Given the description of an element on the screen output the (x, y) to click on. 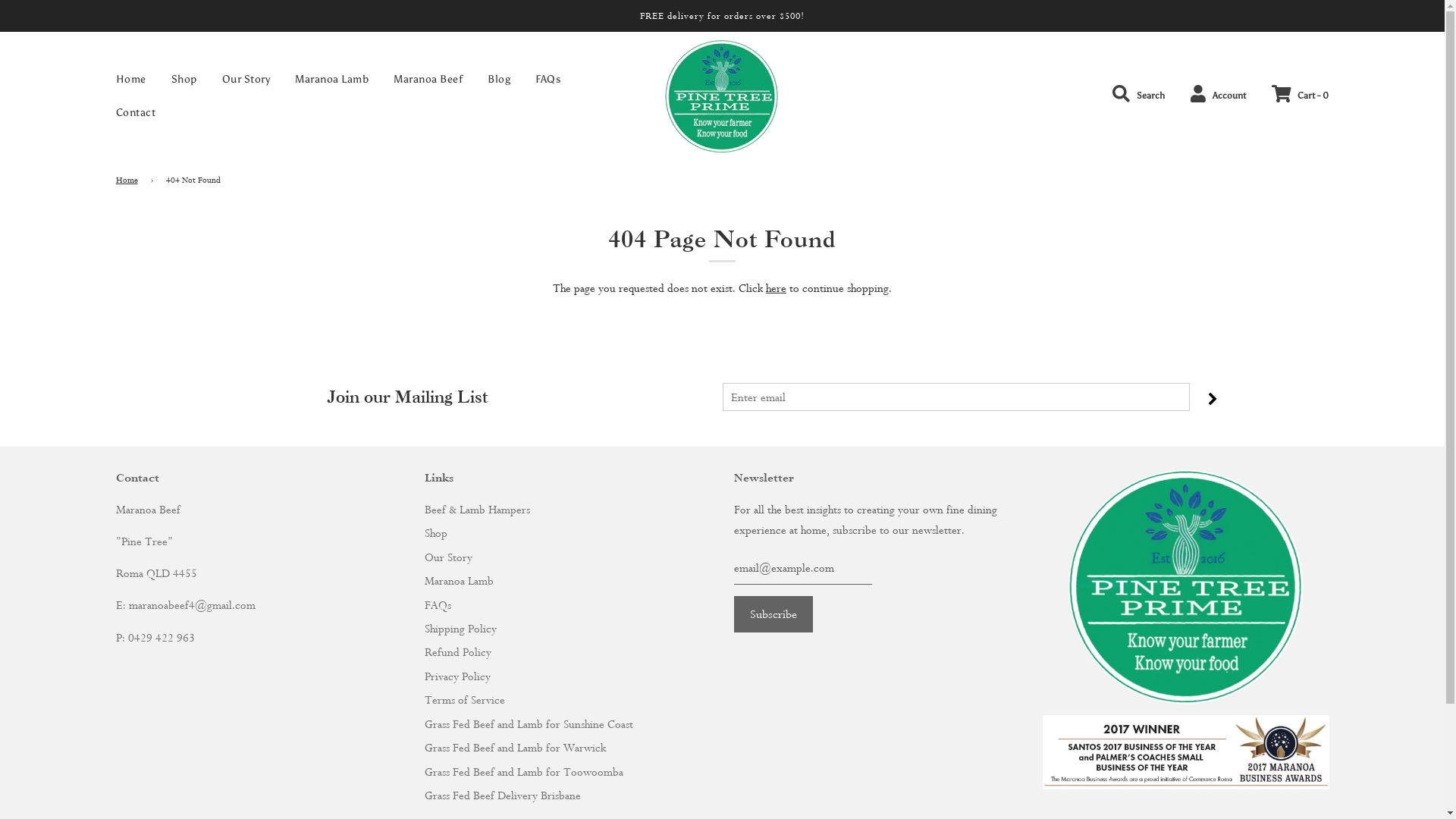
FAQs Element type: text (547, 79)
Blog Element type: text (498, 79)
Grass Fed Beef and Lamb for Warwick Element type: text (514, 747)
Our Story Element type: text (246, 79)
Cart - 0 Element type: text (1299, 94)
Maranoa Lamb Element type: text (458, 580)
Privacy Policy Element type: text (457, 675)
Terms of Service Element type: text (464, 699)
Home Element type: text (128, 180)
Search Element type: text (1138, 94)
Refund Policy Element type: text (457, 651)
here Element type: text (775, 287)
Shop Element type: text (435, 532)
Account Element type: text (1217, 94)
Maranoa Lamb Element type: text (331, 79)
Subscribe Element type: text (773, 614)
Maranoa Beef Element type: text (427, 79)
Shipping Policy Element type: text (460, 628)
Beef & Lamb Hampers Element type: text (477, 509)
FAQs Element type: text (437, 604)
Our Story Element type: text (448, 556)
Grass Fed Beef Delivery Brisbane Element type: text (502, 794)
Home Element type: text (130, 79)
Contact Element type: text (130, 112)
Grass Fed Beef and Lamb for Sunshine Coast Element type: text (528, 723)
Shop Element type: text (183, 79)
